Given the description of an element on the screen output the (x, y) to click on. 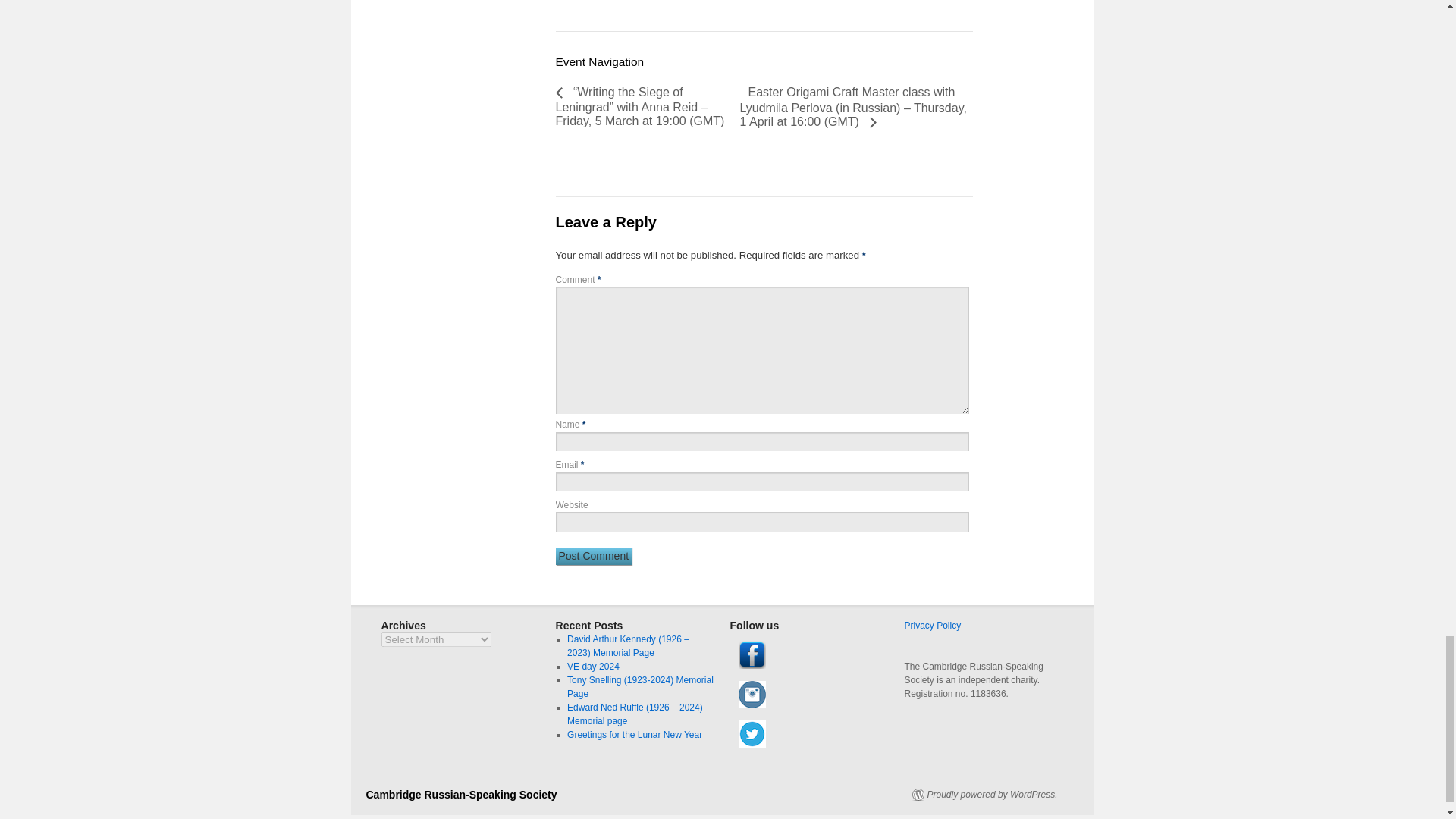
Post Comment (592, 556)
Cambridge Russian-Speaking Society (460, 794)
Semantic Personal Publishing Platform (984, 794)
